Given the description of an element on the screen output the (x, y) to click on. 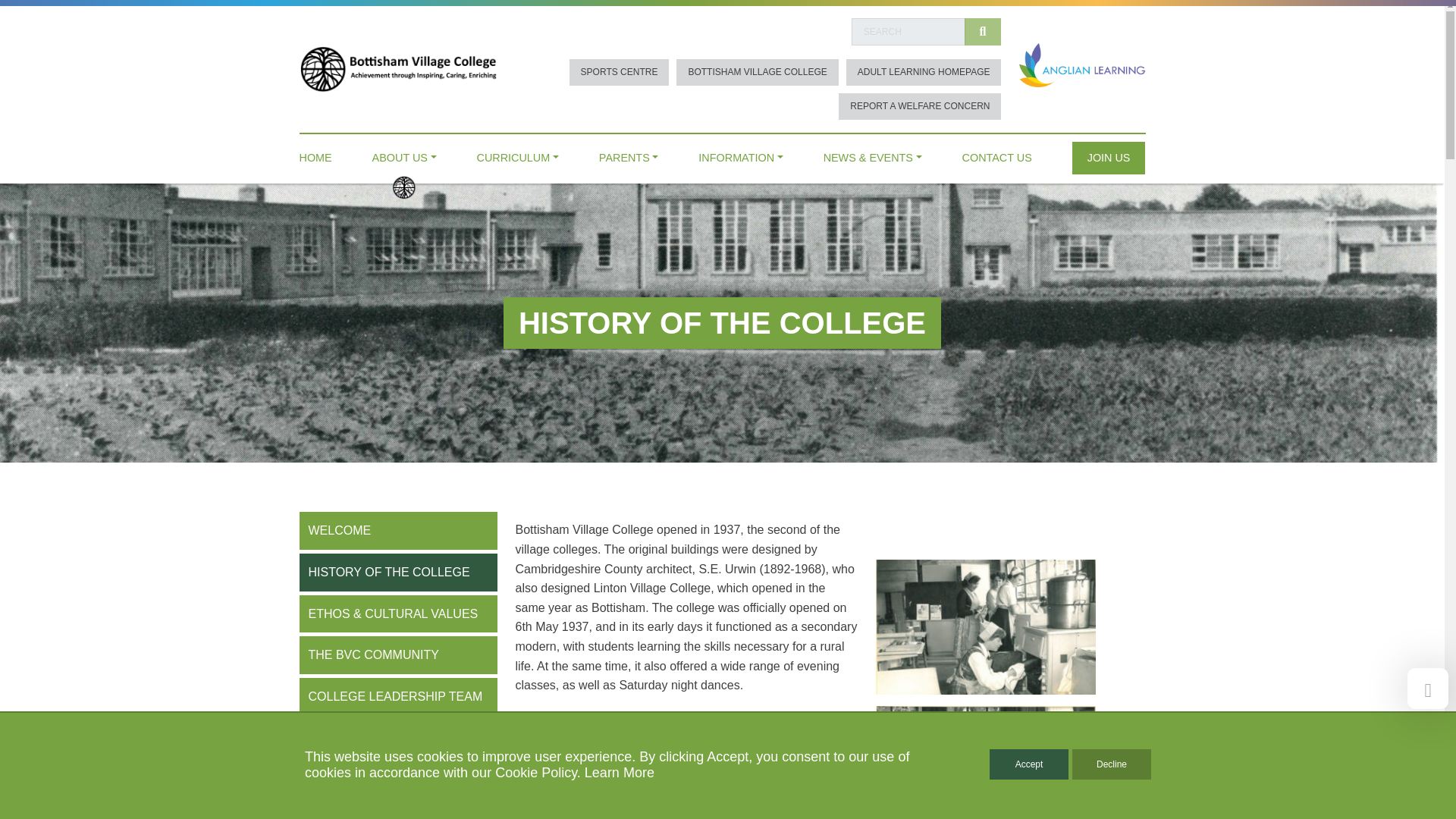
PARENTS (628, 154)
HOME (314, 154)
ADULT LEARNING HOMEPAGE (923, 71)
ABOUT US (404, 154)
CURRICULUM (518, 154)
Anglian Learning (1081, 64)
BOTTISHAM VILLAGE COLLEGE (757, 71)
SPORTS CENTRE (619, 71)
REPORT A WELFARE CONCERN (919, 106)
